Given the description of an element on the screen output the (x, y) to click on. 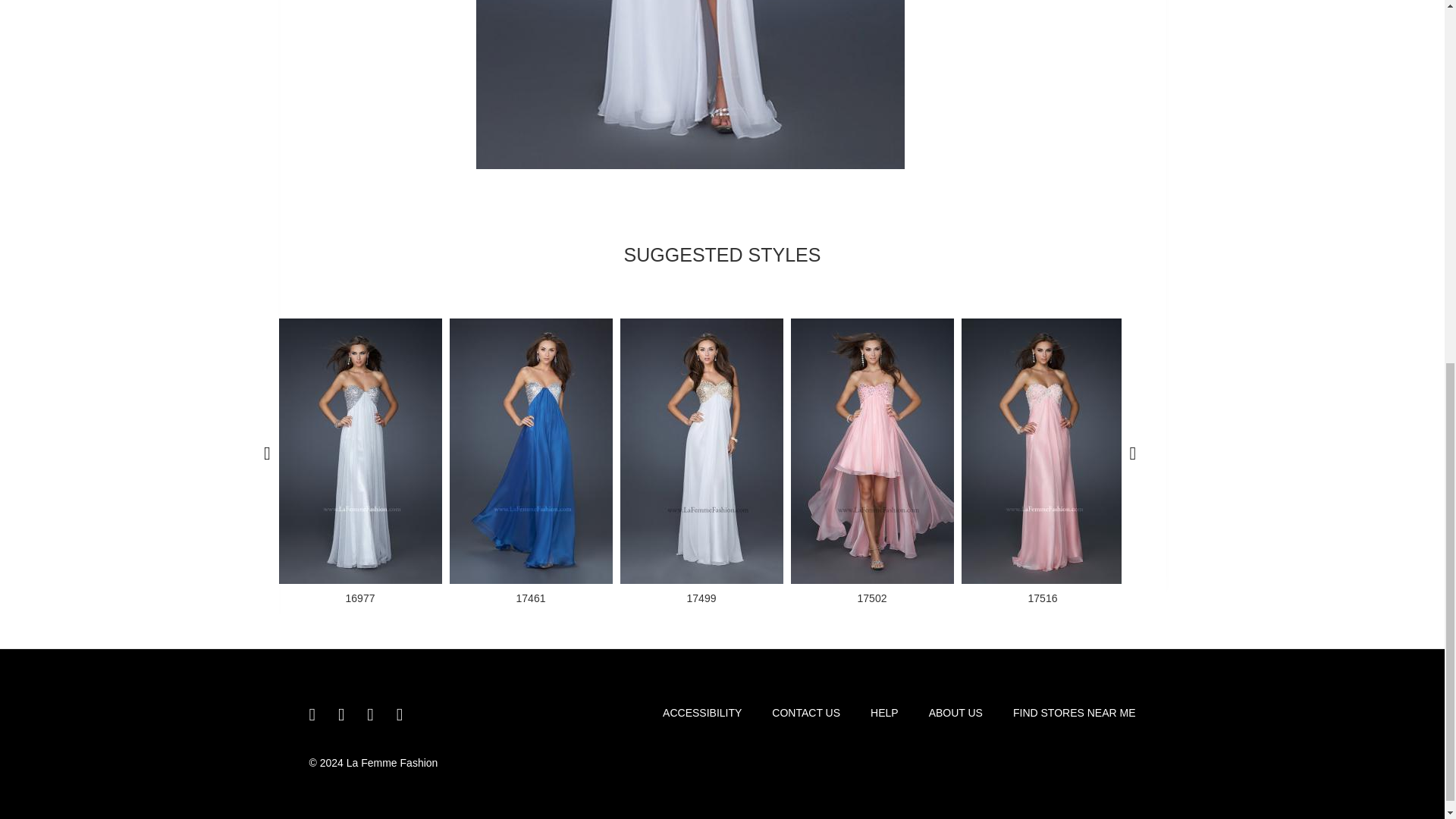
White (690, 84)
